Given the description of an element on the screen output the (x, y) to click on. 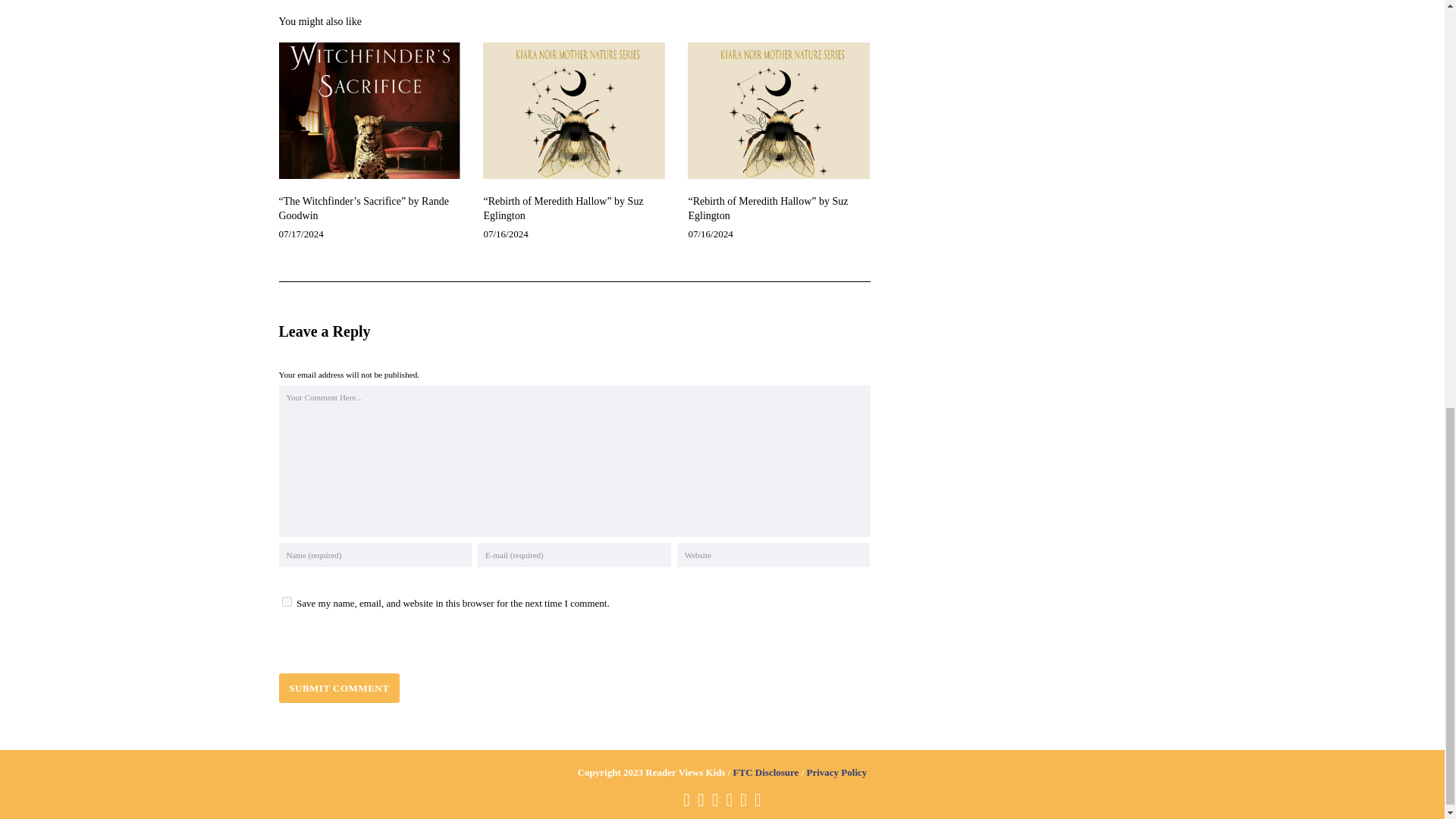
yes (287, 601)
Submit Comment (339, 687)
